Given the description of an element on the screen output the (x, y) to click on. 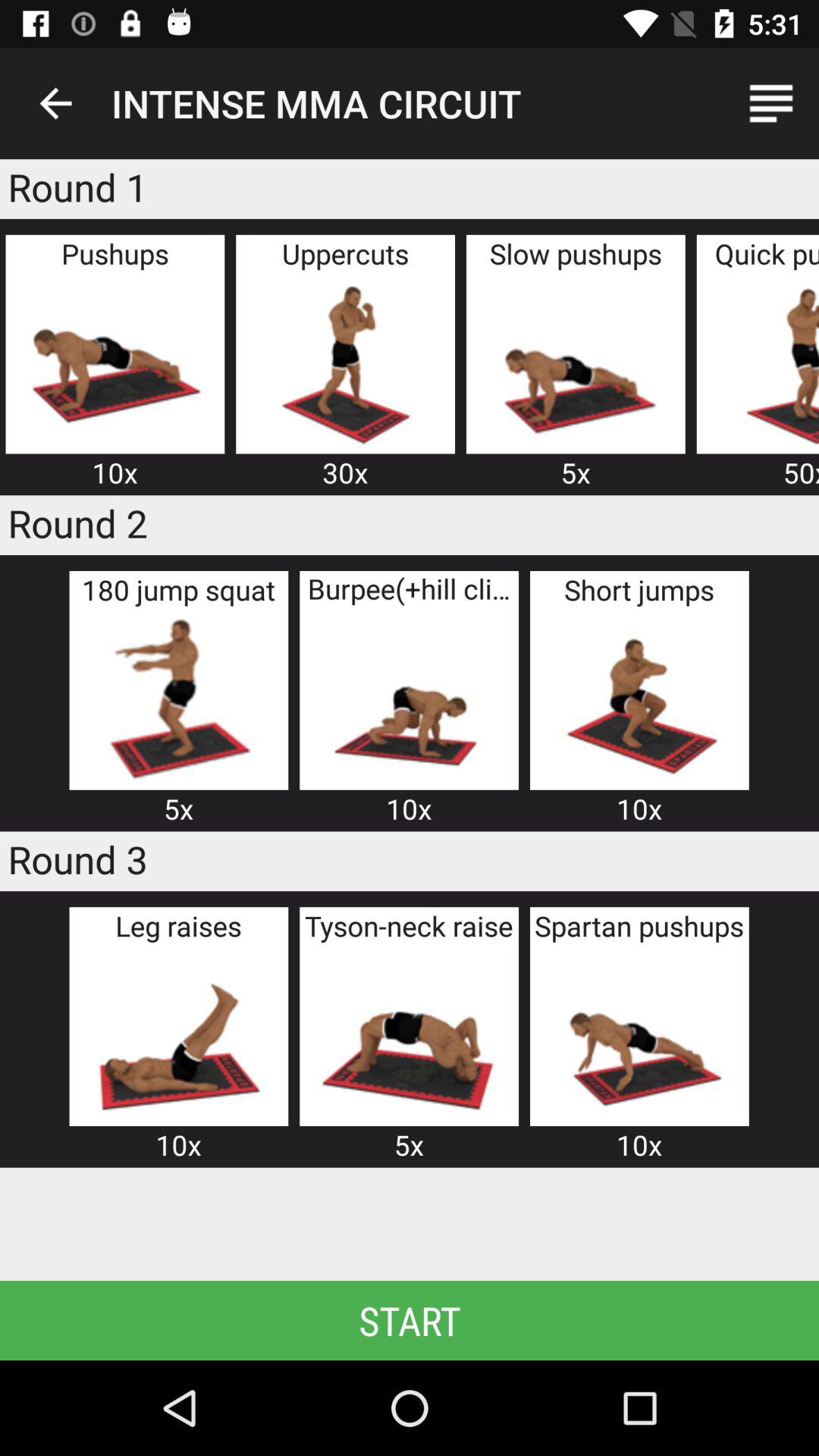
bend your knees (178, 698)
